Given the description of an element on the screen output the (x, y) to click on. 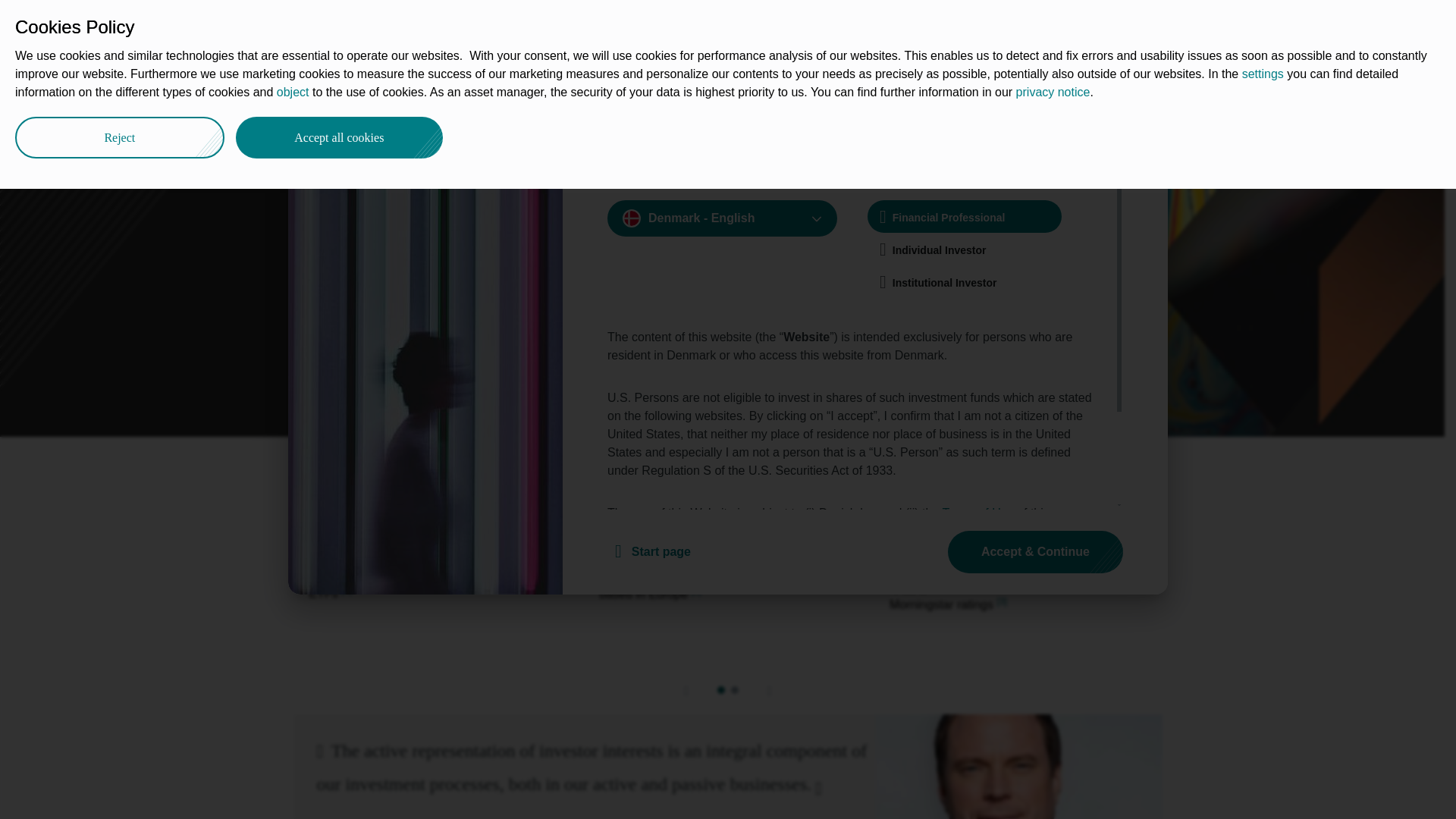
Home (307, 92)
DWS - Investors for a new now (307, 92)
Capabilities (370, 92)
Capabilities (501, 24)
Capabilities (370, 92)
Solutions (586, 24)
Share (1140, 90)
